Given the description of an element on the screen output the (x, y) to click on. 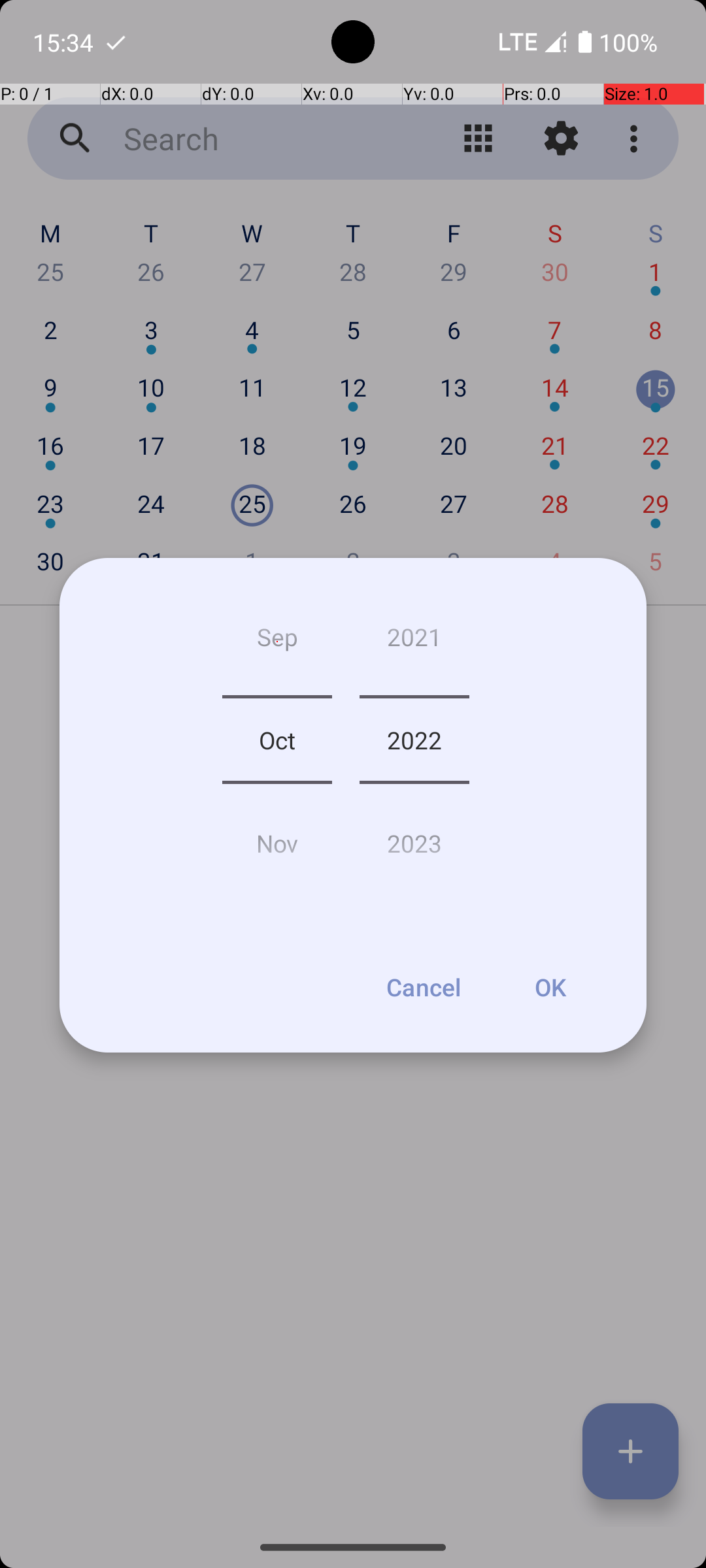
2021 Element type: android.widget.Button (414, 641)
